Given the description of an element on the screen output the (x, y) to click on. 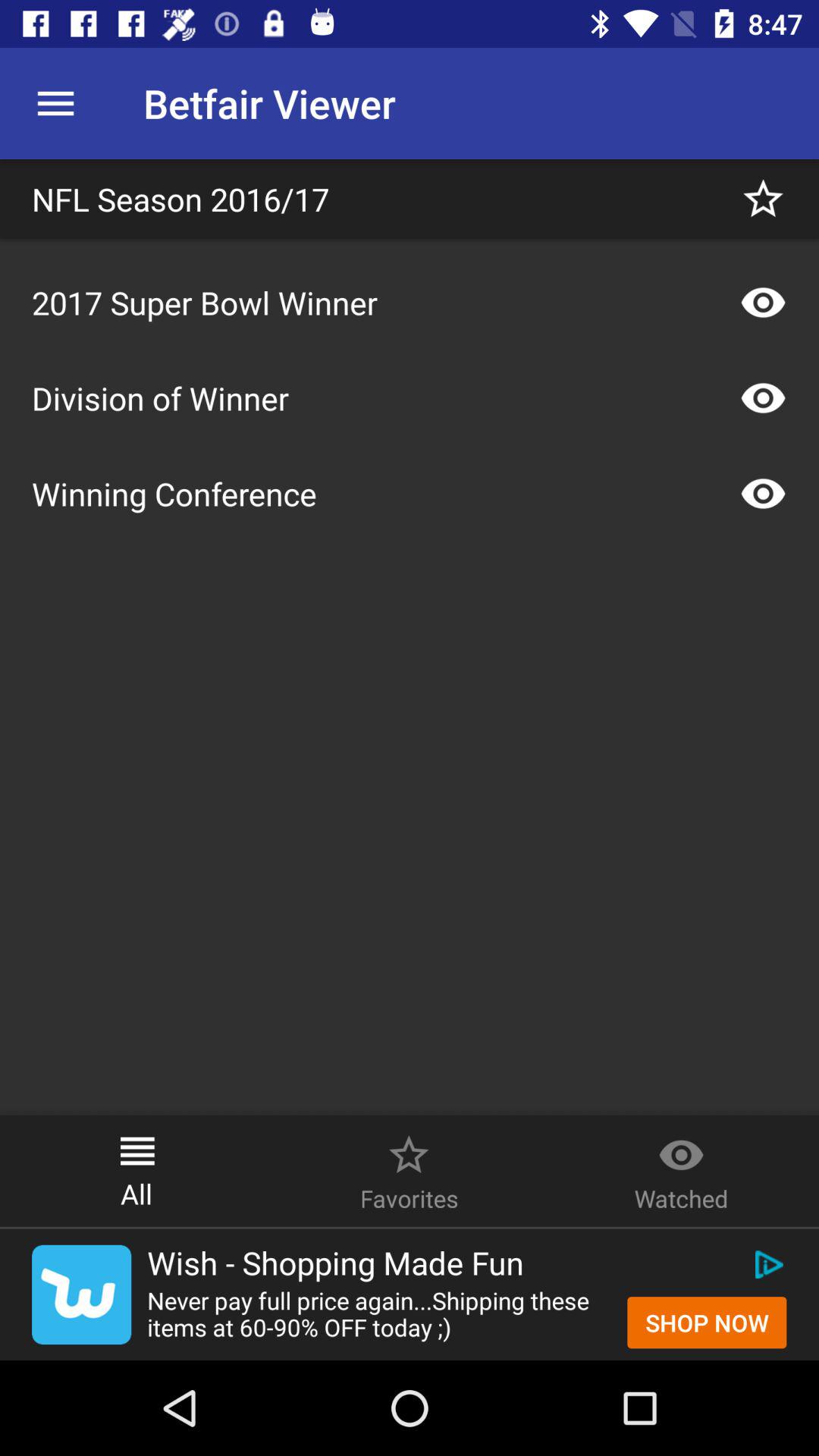
turn on the icon next to betfair viewer icon (55, 103)
